Given the description of an element on the screen output the (x, y) to click on. 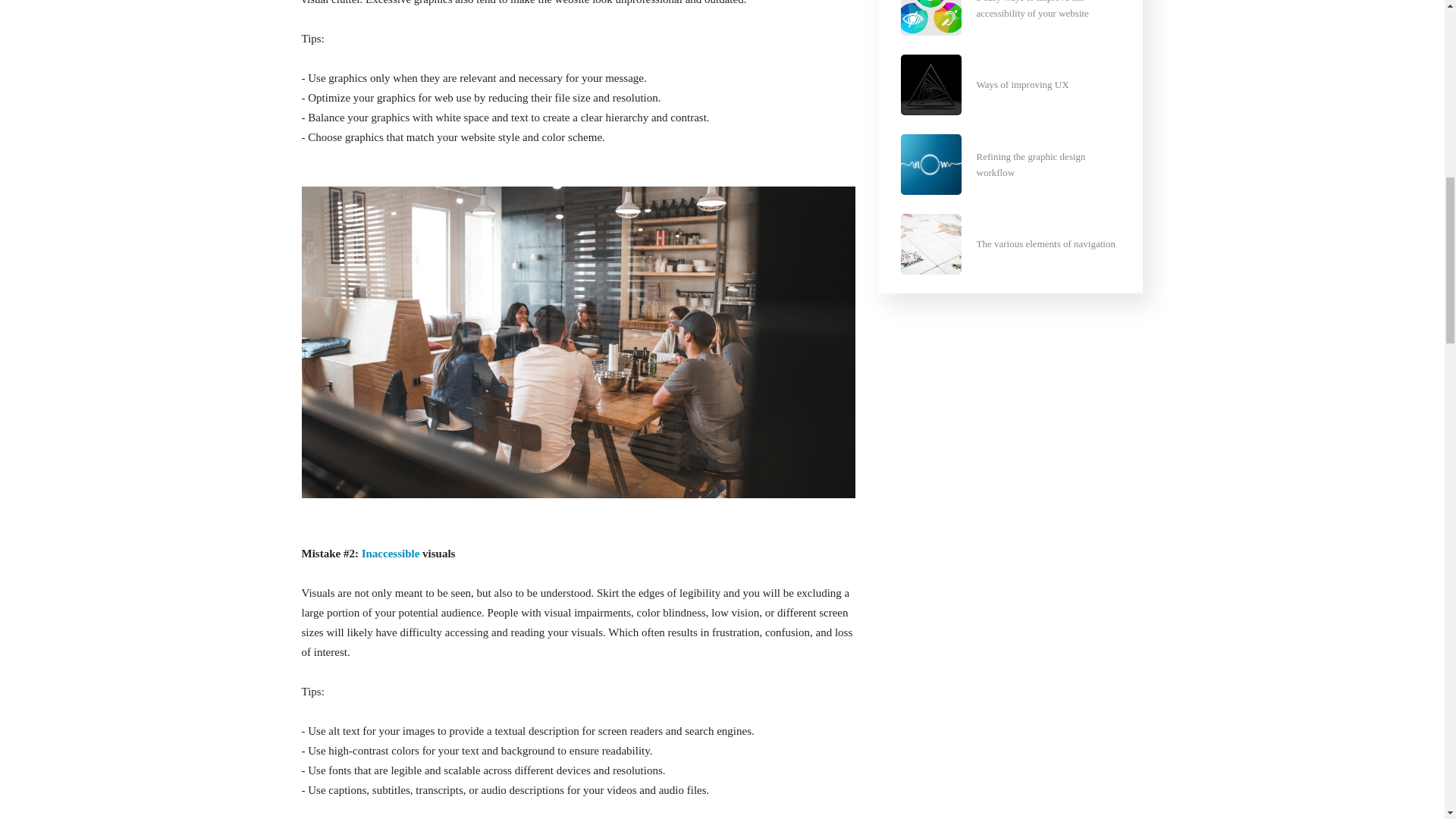
Inaccessible (390, 553)
Inaccessible (390, 553)
